Given the description of an element on the screen output the (x, y) to click on. 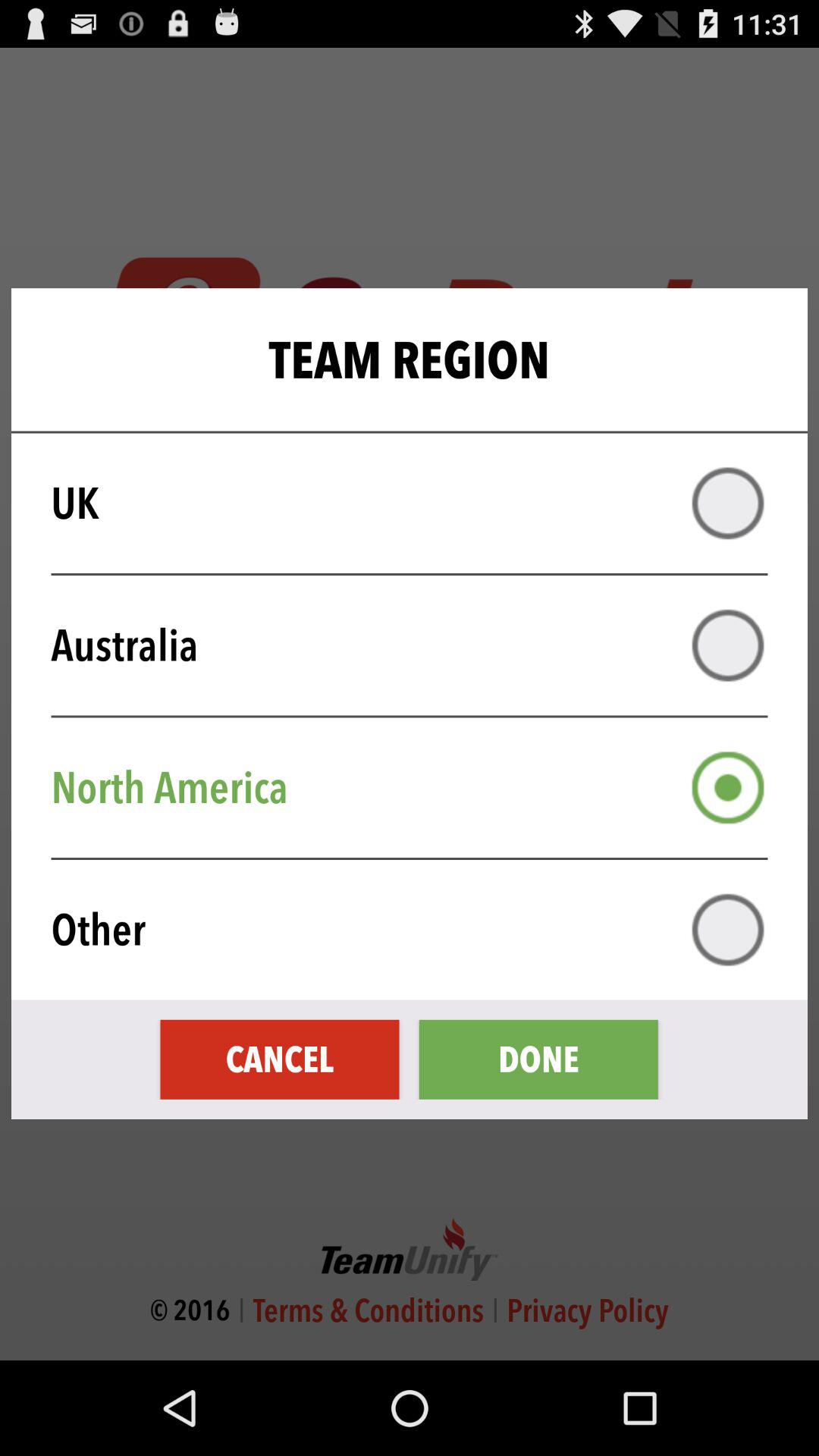
select australia (727, 645)
